Given the description of an element on the screen output the (x, y) to click on. 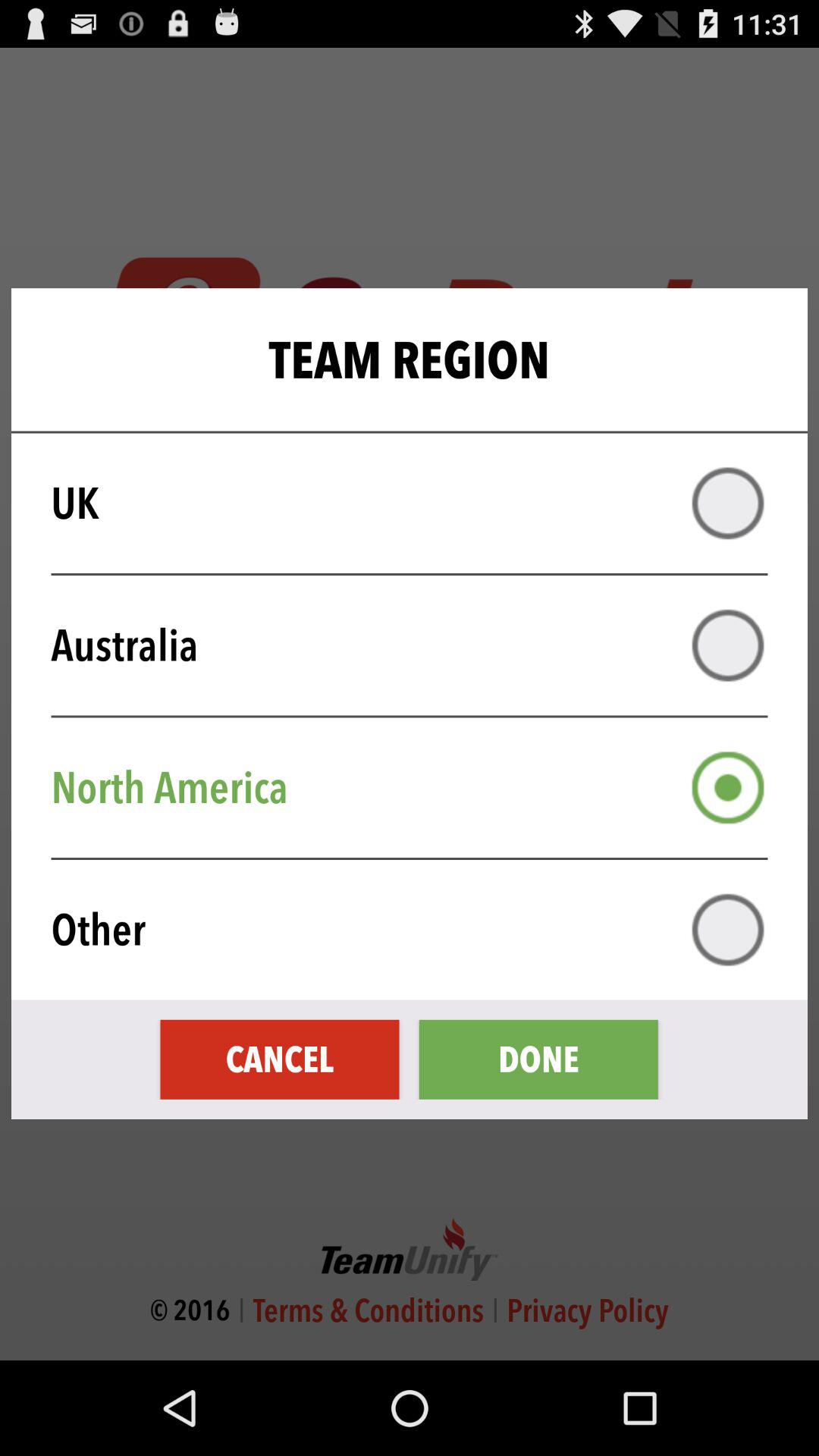
select australia (727, 645)
